Given the description of an element on the screen output the (x, y) to click on. 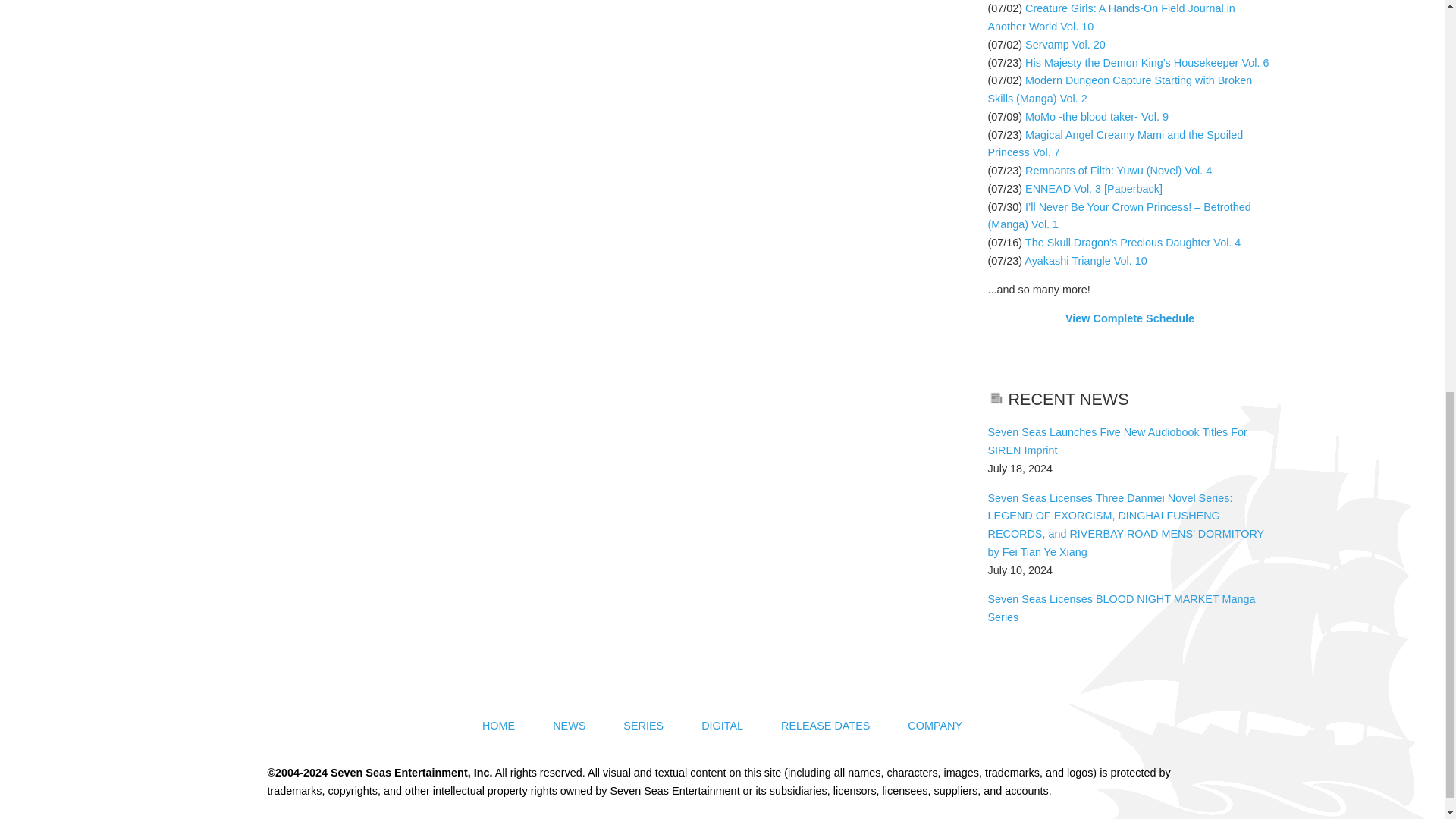
Servamp Vol. 20 (1065, 44)
